Given the description of an element on the screen output the (x, y) to click on. 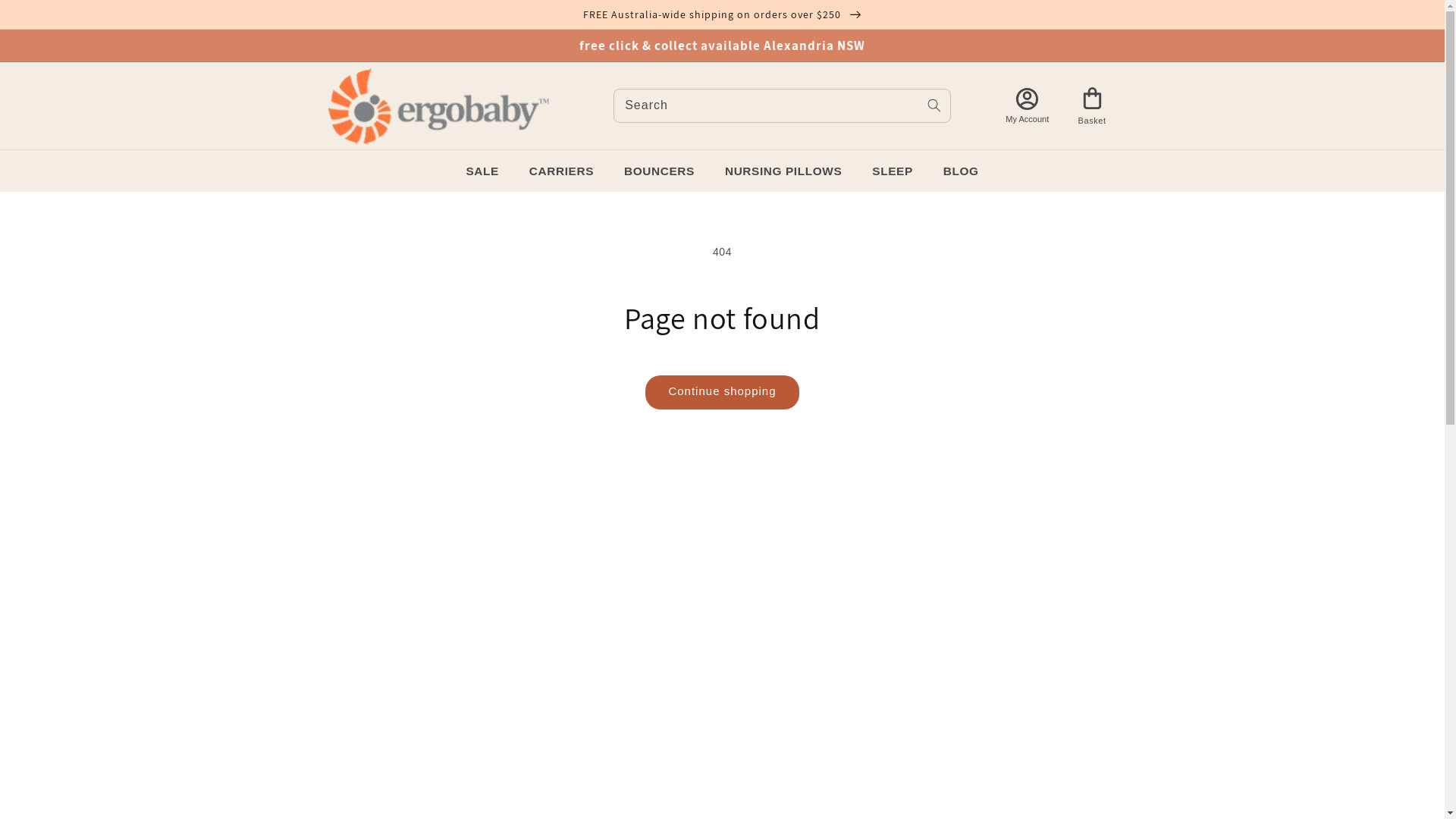
BOUNCERS Element type: text (658, 170)
Basket
Cart Element type: text (1091, 105)
FREE Australia-wide shipping on orders over $250 Element type: text (722, 14)
SLEEP Element type: text (891, 170)
NURSING PILLOWS Element type: text (782, 170)
Continue shopping Element type: text (721, 392)
BLOG Element type: text (961, 170)
SALE Element type: text (481, 170)
CARRIERS Element type: text (561, 170)
My Account Element type: text (1027, 104)
